Given the description of an element on the screen output the (x, y) to click on. 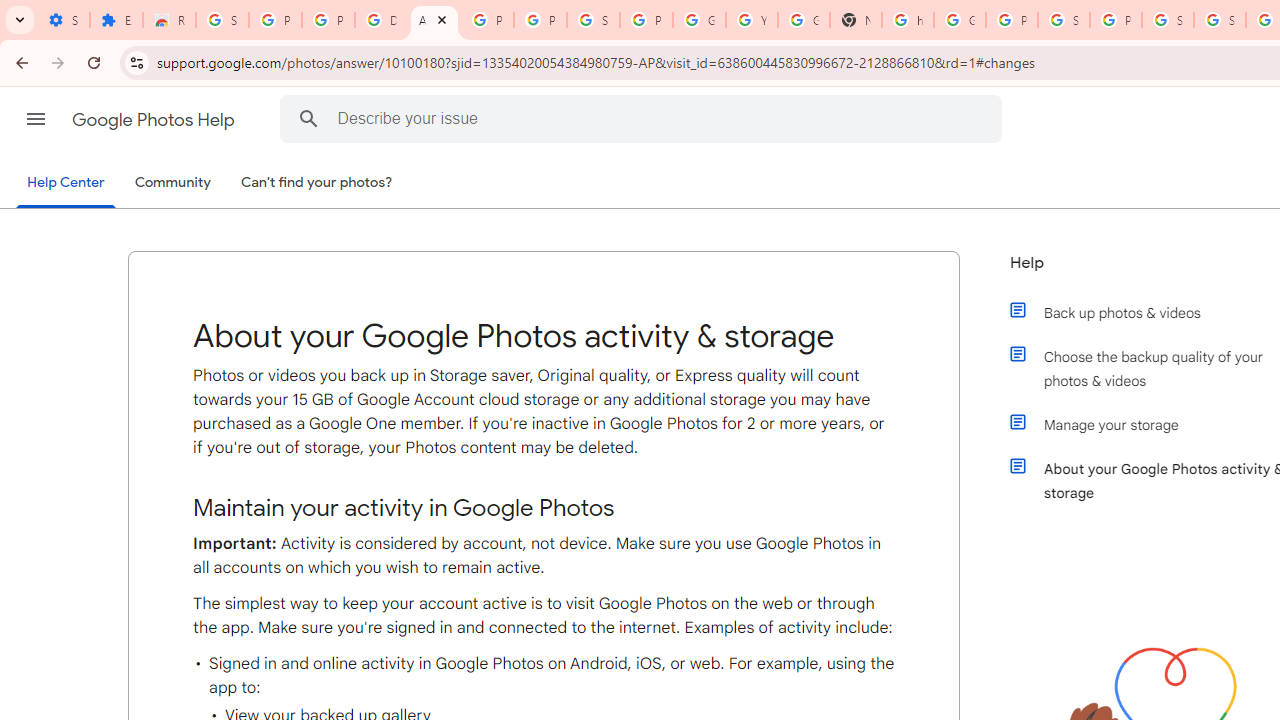
https://scholar.google.com/ (907, 20)
Sign in - Google Accounts (222, 20)
Extensions (116, 20)
Reviews: Helix Fruit Jump Arcade Game (169, 20)
Settings - On startup (63, 20)
Help Center (65, 183)
Sign in - Google Accounts (1219, 20)
Community (171, 183)
Can't find your photos? (317, 183)
